Given the description of an element on the screen output the (x, y) to click on. 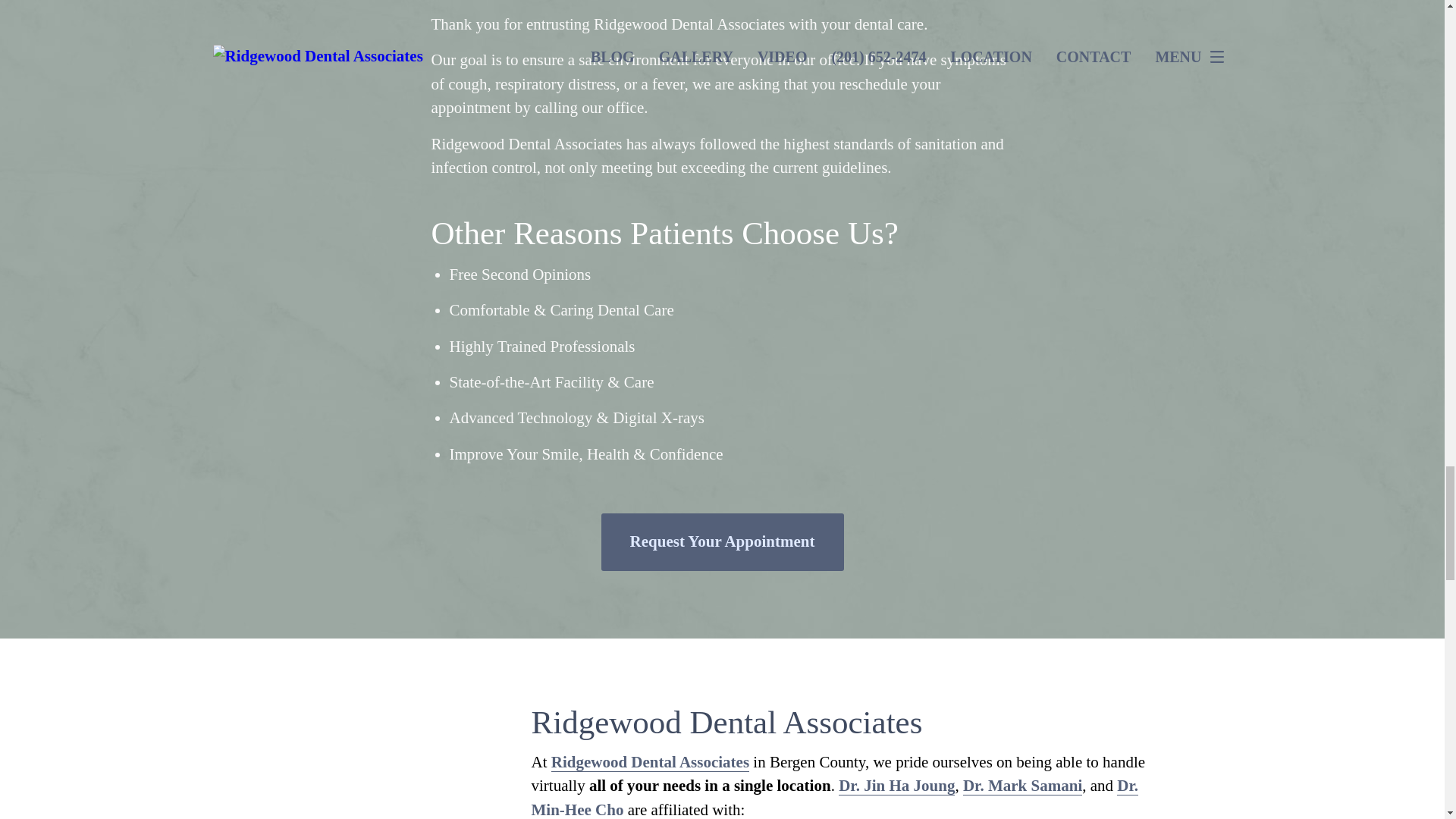
Dr. Mark Samani (1021, 785)
Request Your Appointment (721, 541)
Ridgewood Dental Associates (650, 762)
Dr. Jin Ha Joung (896, 785)
Dr. Min-Hee Cho (834, 797)
